Given the description of an element on the screen output the (x, y) to click on. 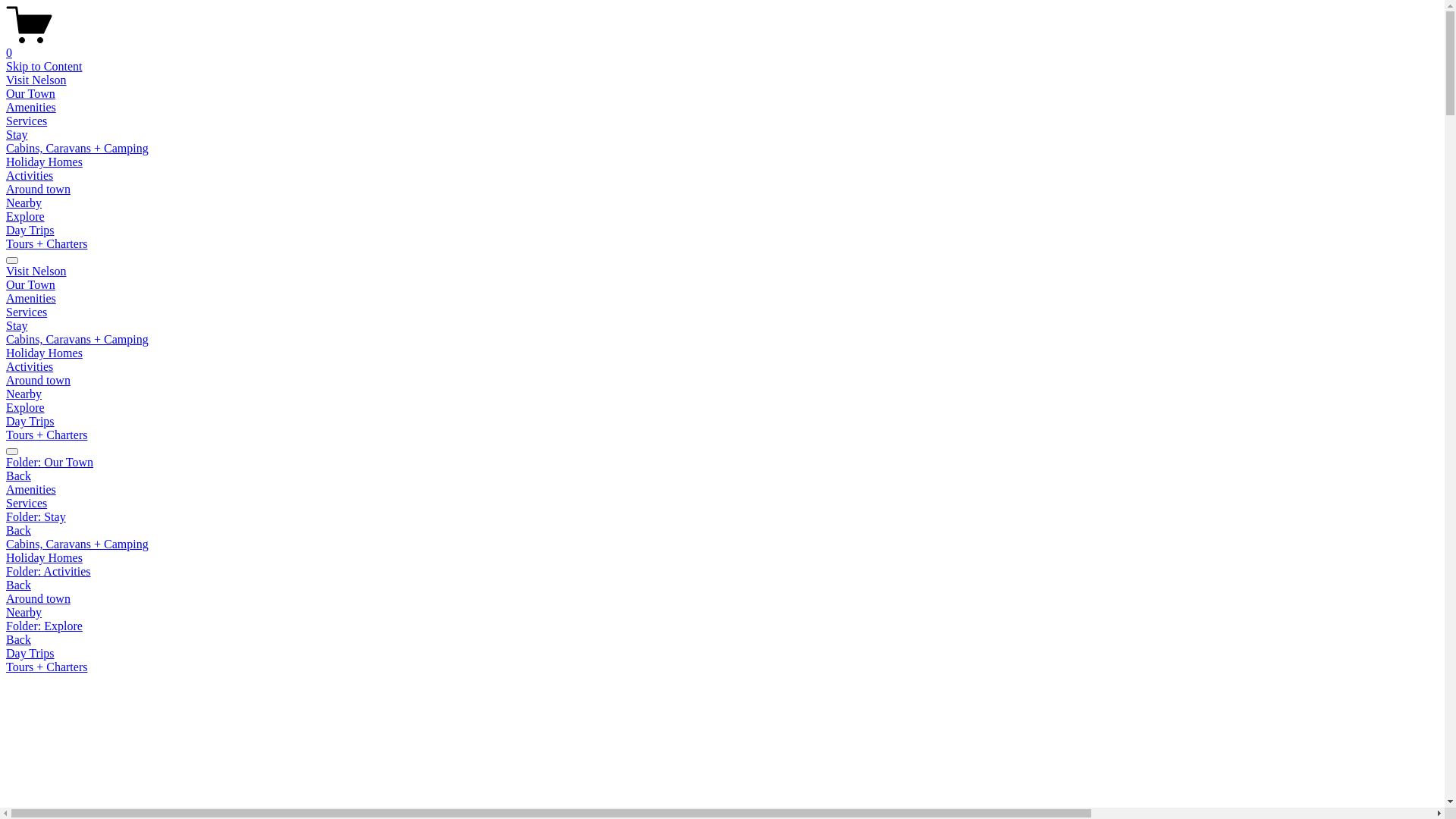
Visit Nelson Element type: text (35, 270)
Stay Element type: text (16, 134)
Holiday Homes Element type: text (722, 557)
Visit Nelson Element type: text (35, 79)
Amenities Element type: text (31, 297)
Folder: Activities Element type: text (722, 571)
Amenities Element type: text (722, 489)
Holiday Homes Element type: text (44, 352)
Tours + Charters Element type: text (46, 434)
Skip to Content Element type: text (43, 65)
Our Town Element type: text (30, 93)
Cabins, Caravans + Camping Element type: text (722, 544)
0 Element type: text (722, 45)
Day Trips Element type: text (30, 420)
Back Element type: text (18, 475)
Around town Element type: text (38, 188)
Back Element type: text (18, 584)
Back Element type: text (18, 639)
Our Town Element type: text (30, 284)
Nearby Element type: text (23, 393)
Services Element type: text (722, 503)
Amenities Element type: text (31, 106)
Cabins, Caravans + Camping Element type: text (77, 147)
Tours + Charters Element type: text (46, 243)
Back Element type: text (18, 530)
Folder: Our Town Element type: text (722, 462)
Stay Element type: text (16, 325)
Day Trips Element type: text (722, 653)
Activities Element type: text (29, 366)
Folder: Stay Element type: text (722, 517)
Activities Element type: text (29, 175)
Explore Element type: text (25, 407)
Explore Element type: text (25, 216)
Holiday Homes Element type: text (44, 161)
Cabins, Caravans + Camping Element type: text (77, 338)
Around town Element type: text (38, 379)
Around town Element type: text (722, 598)
Nearby Element type: text (722, 612)
Day Trips Element type: text (30, 229)
Services Element type: text (26, 120)
Services Element type: text (26, 311)
Folder: Explore Element type: text (722, 626)
Tours + Charters Element type: text (722, 667)
Nearby Element type: text (23, 202)
